Given the description of an element on the screen output the (x, y) to click on. 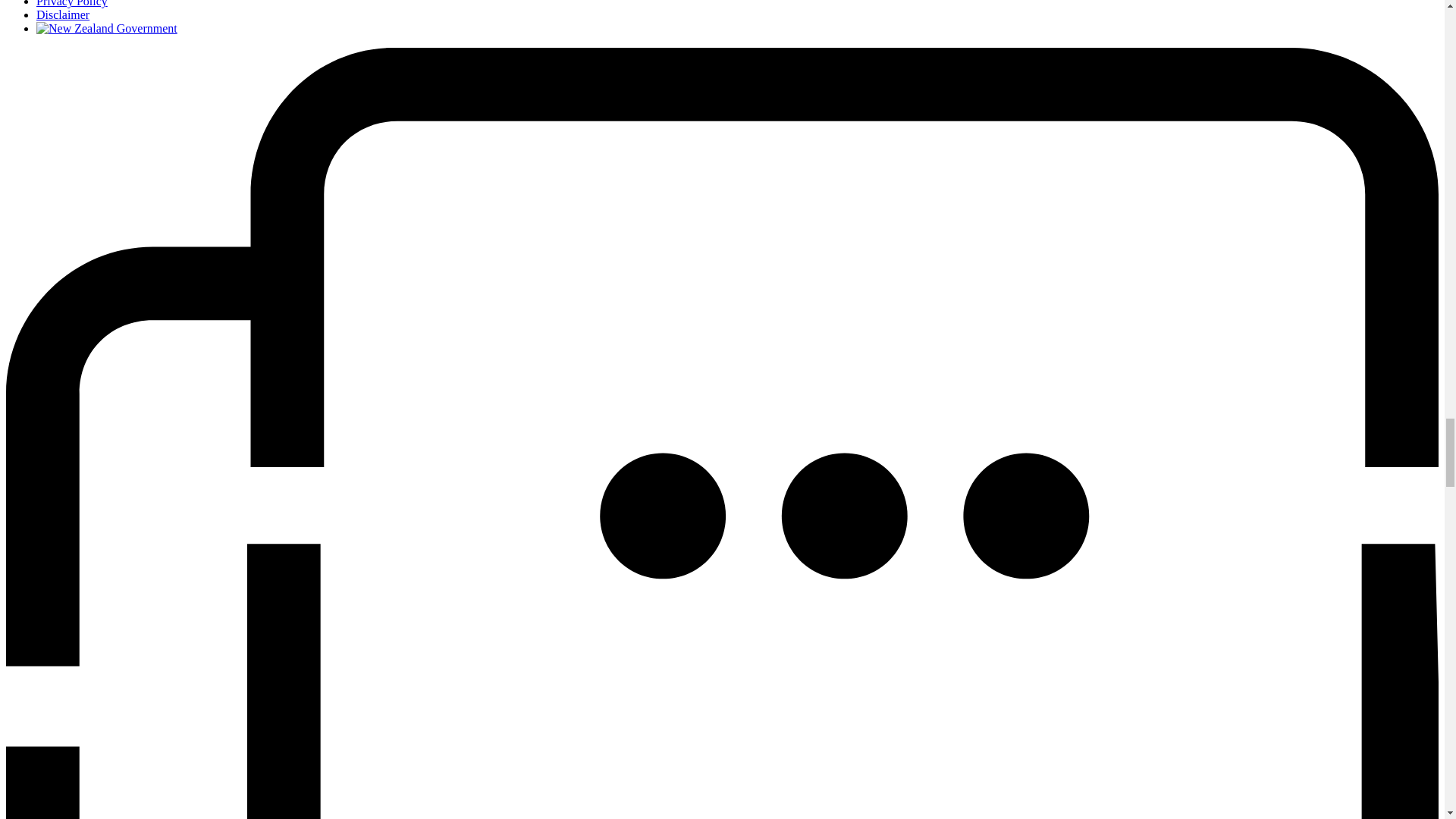
Disclaimer (62, 14)
Privacy Policy (71, 3)
